Given the description of an element on the screen output the (x, y) to click on. 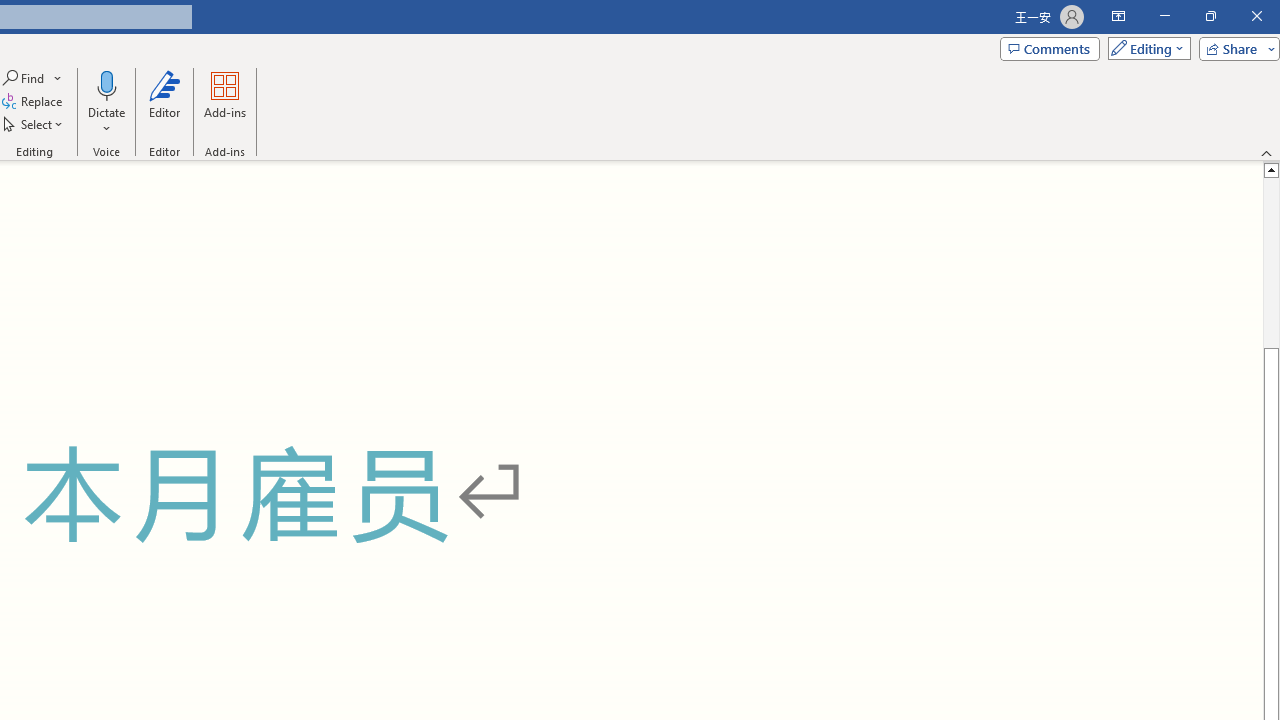
Restore Down (1210, 16)
Dictate (106, 102)
Dictate (106, 84)
Page up (1271, 262)
Minimize (1164, 16)
Editing (1144, 47)
Ribbon Display Options (1118, 16)
Line up (1271, 169)
Close (1256, 16)
Editor (164, 102)
Collapse the Ribbon (1267, 152)
Comments (1049, 48)
More Options (106, 121)
Share (1235, 48)
